Given the description of an element on the screen output the (x, y) to click on. 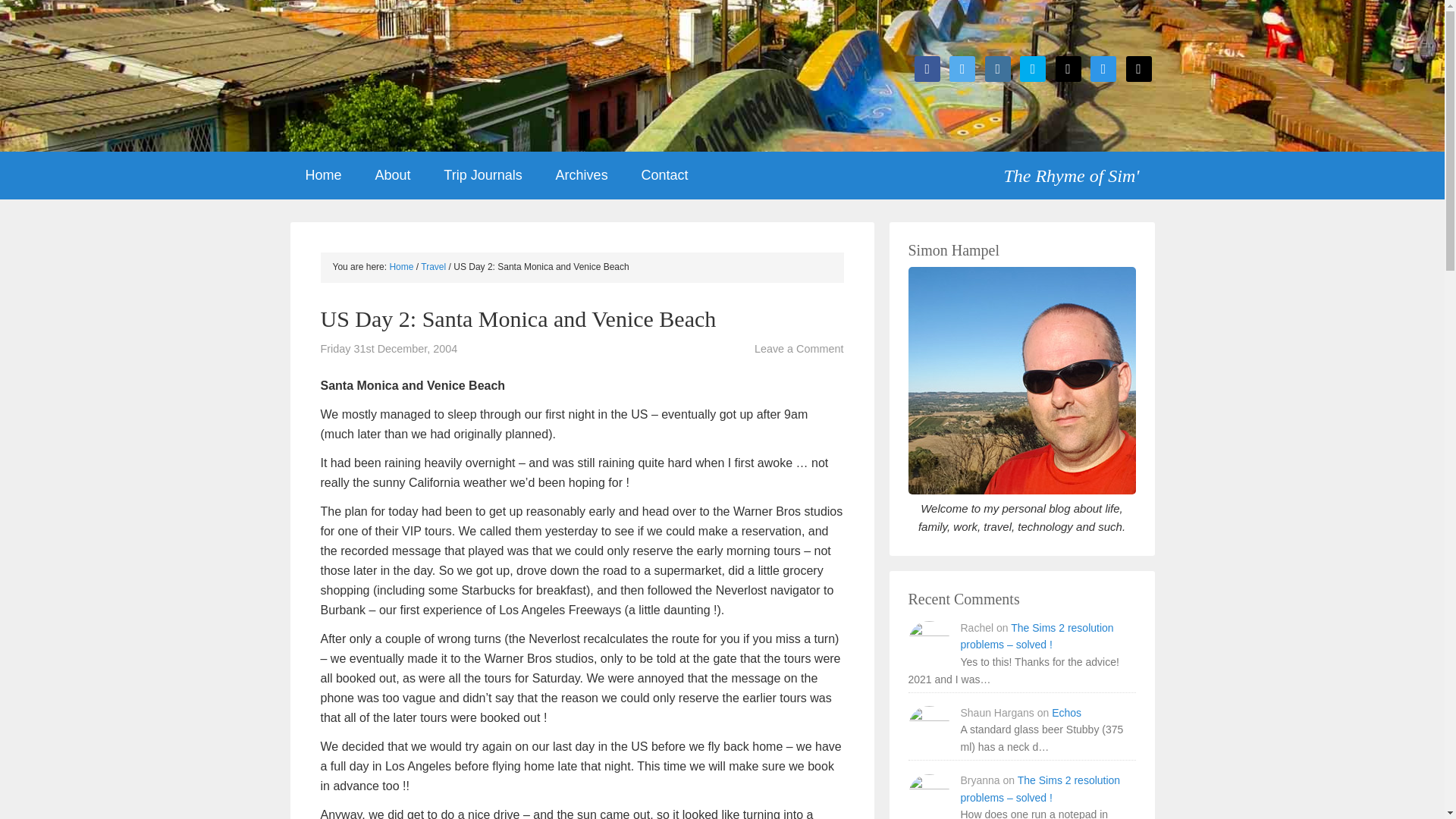
Blog and Twitter Archives (581, 175)
Archives (581, 175)
Travel (432, 266)
About (392, 175)
facebook (927, 67)
stackoverflow (1103, 67)
Instagram (997, 67)
Friend me on Facebook (927, 67)
Follow Me (962, 67)
vimeo (1032, 67)
